Given the description of an element on the screen output the (x, y) to click on. 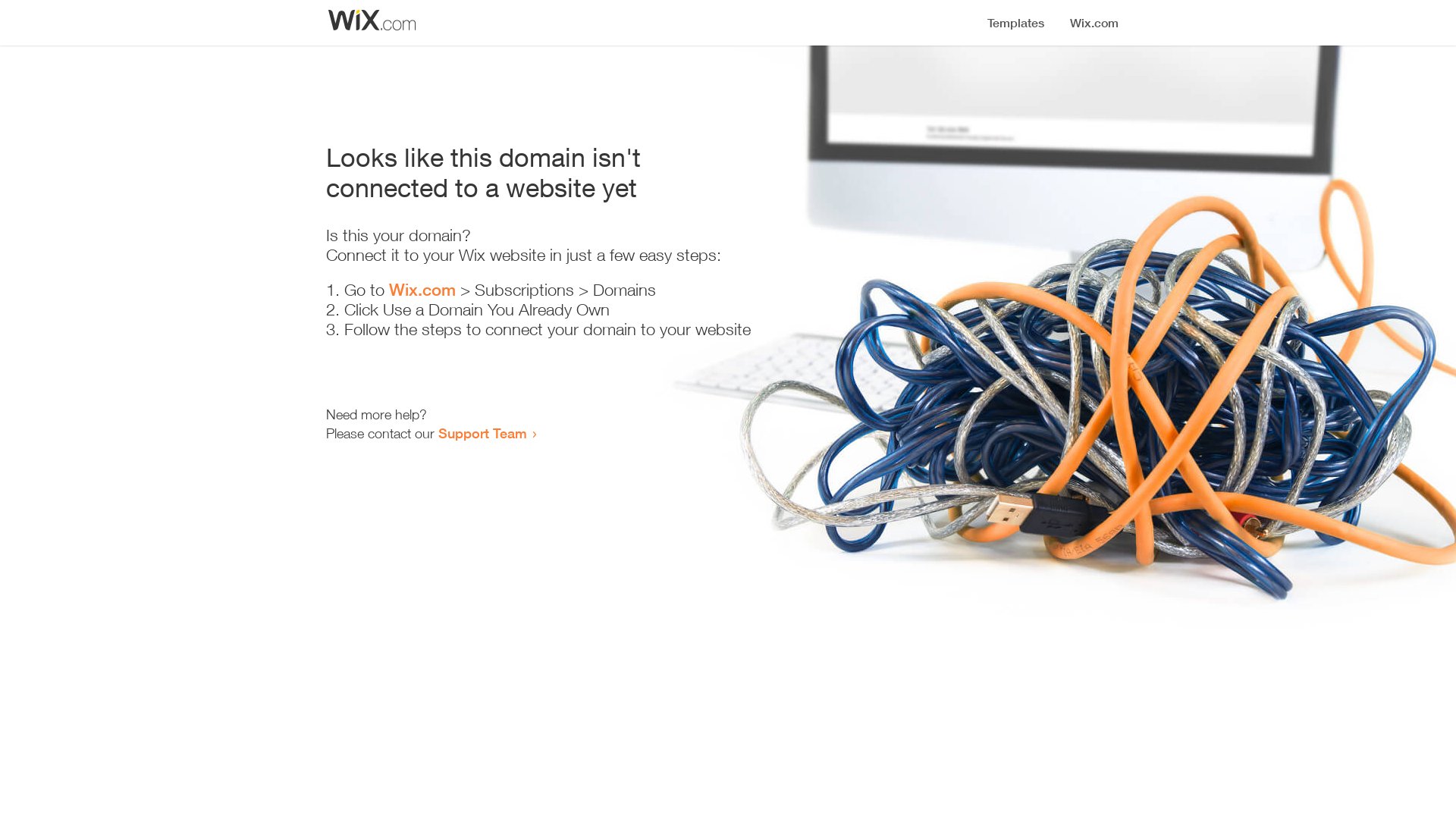
Support Team Element type: text (482, 432)
Wix.com Element type: text (422, 289)
